Given the description of an element on the screen output the (x, y) to click on. 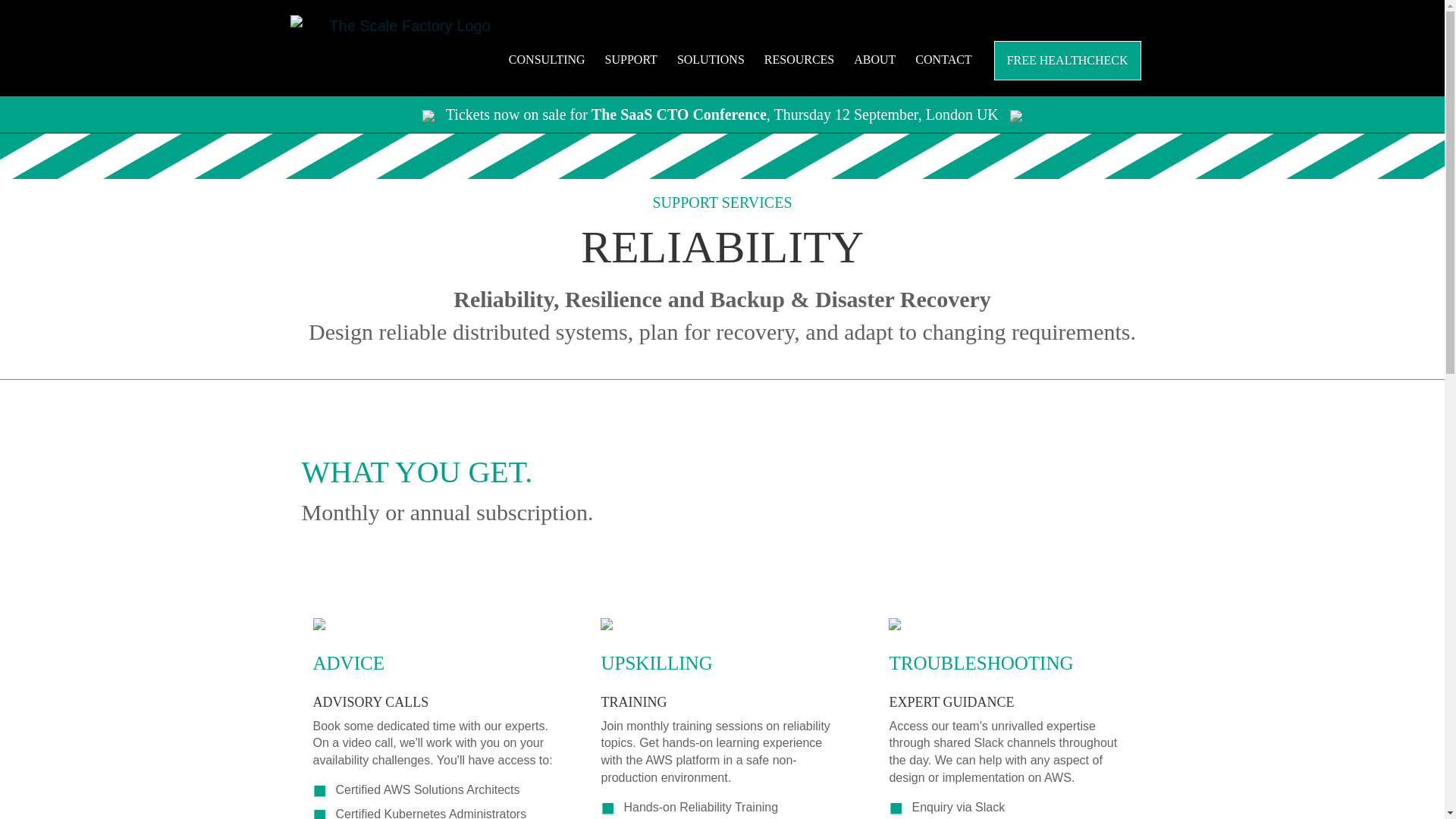
SUPPORT (631, 59)
Home (402, 25)
CONSULTING (546, 59)
SOLUTIONS (711, 59)
